Given the description of an element on the screen output the (x, y) to click on. 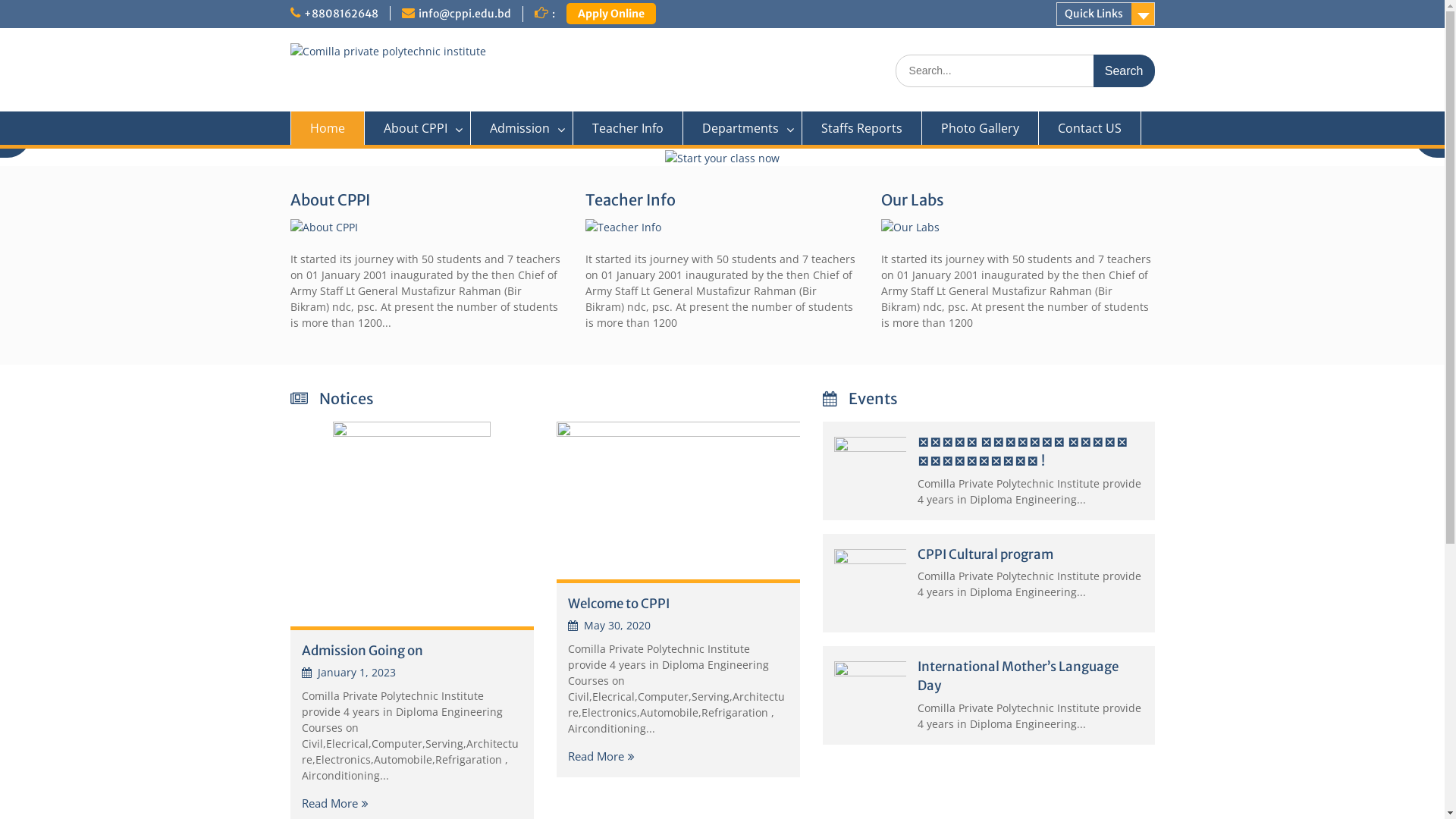
Apply Online Element type: text (610, 13)
Read More Element type: text (334, 802)
Staffs Reports Element type: text (862, 127)
info@cppi.edu.bd Element type: text (464, 13)
+8808162648 Element type: text (340, 13)
Skip to content Element type: text (0, 0)
Home Element type: text (326, 127)
May 30, 2020 Element type: text (608, 625)
CPPI Cultural program Element type: text (985, 554)
Our Labs Element type: text (912, 199)
Departments Element type: text (741, 127)
Teacher Info Element type: text (630, 199)
Search Element type: text (1123, 70)
Welcome to CPPI Element type: text (617, 602)
About CPPI Element type: text (329, 199)
January 1, 2023 Element type: text (348, 672)
Read More Element type: text (600, 755)
Quick Links Element type: text (1104, 13)
About CPPI Element type: text (417, 127)
Teacher Info Element type: text (628, 127)
Photo Gallery Element type: text (980, 127)
Search for: Element type: hover (1024, 70)
Contact US Element type: text (1089, 127)
Admission Element type: text (521, 127)
Admission Going on Element type: text (362, 650)
